Given the description of an element on the screen output the (x, y) to click on. 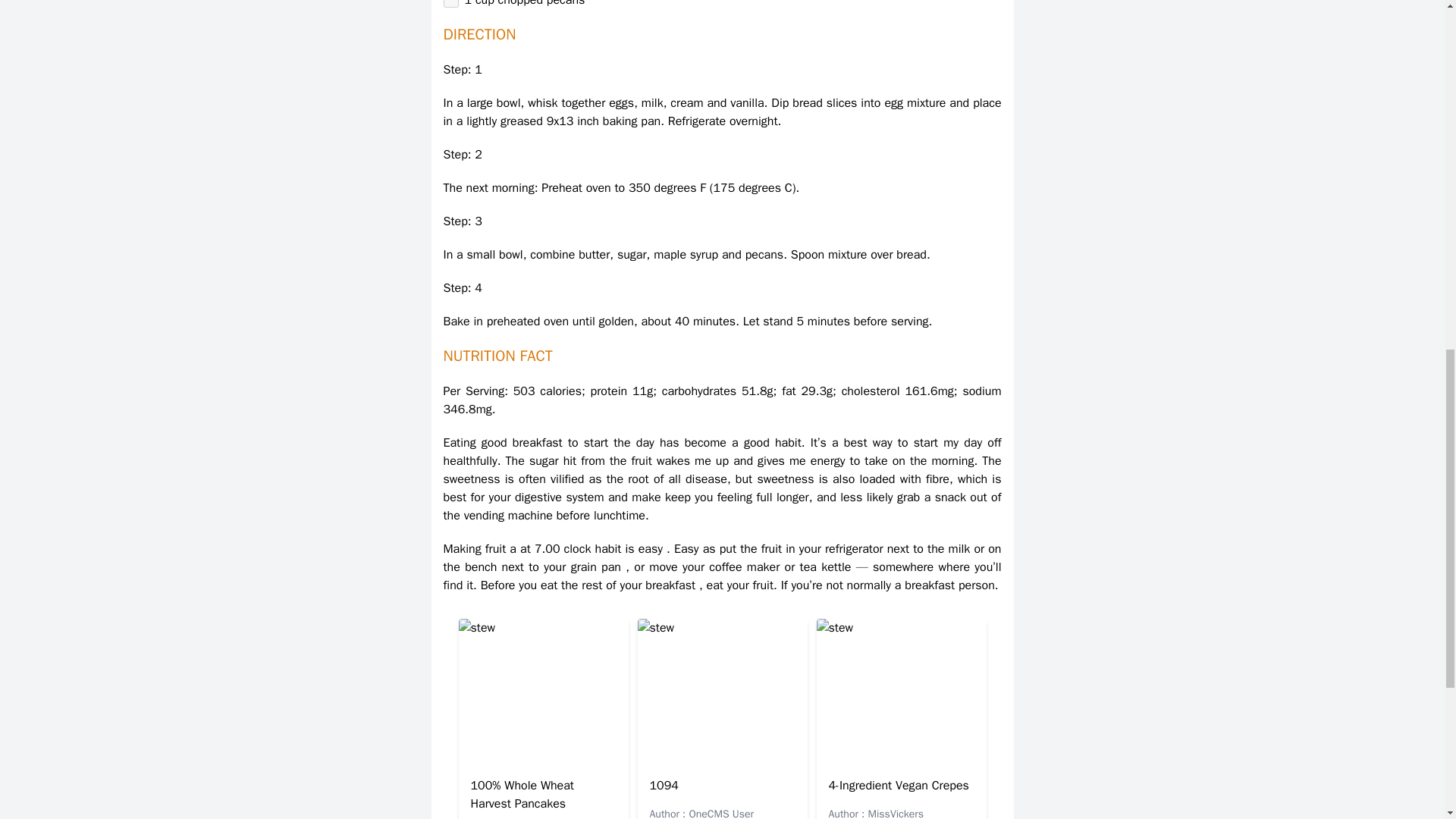
on (450, 3)
1094 (663, 785)
4-Ingredient Vegan Crepes (898, 785)
